Given the description of an element on the screen output the (x, y) to click on. 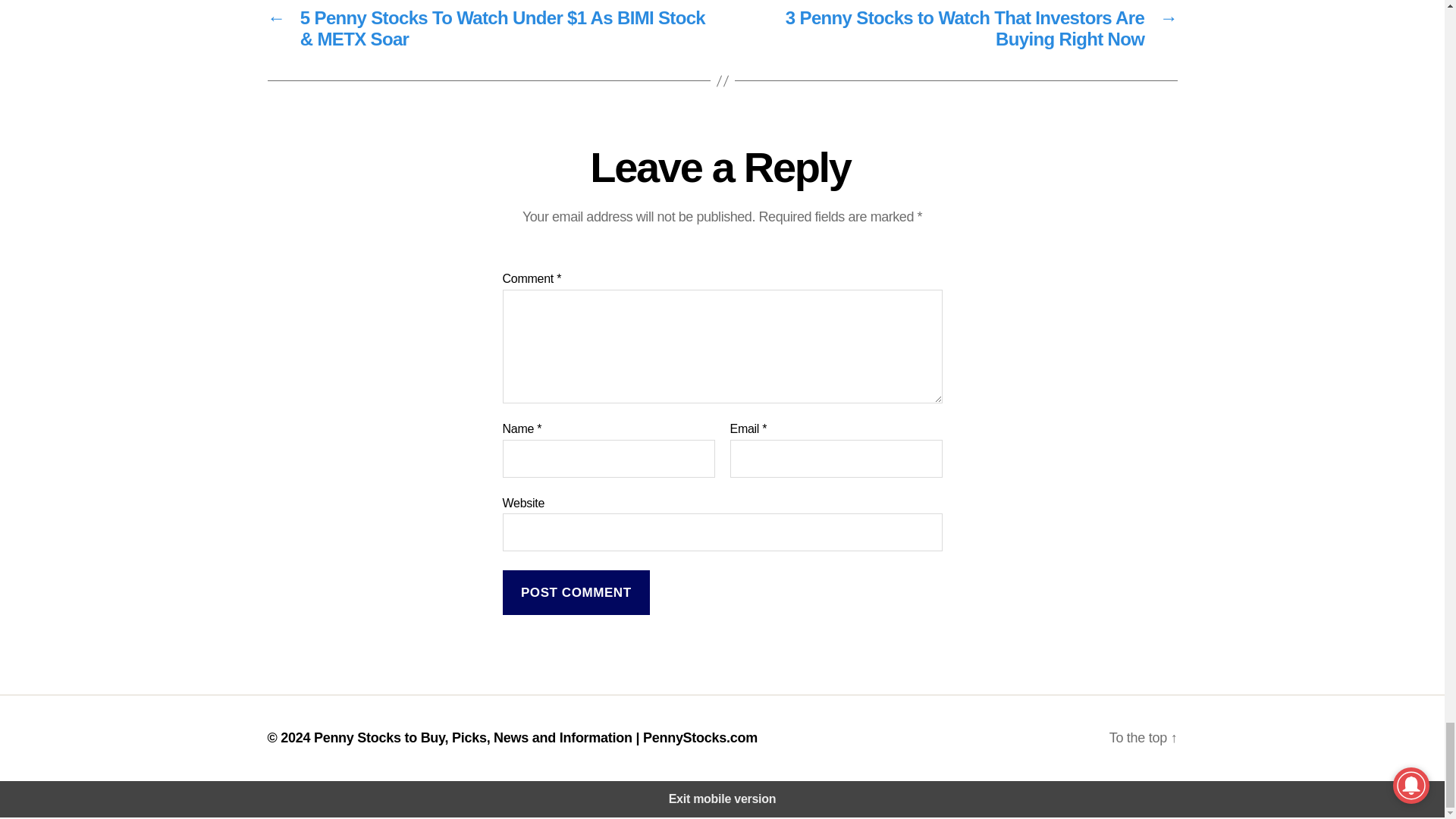
Post Comment (575, 592)
